Given the description of an element on the screen output the (x, y) to click on. 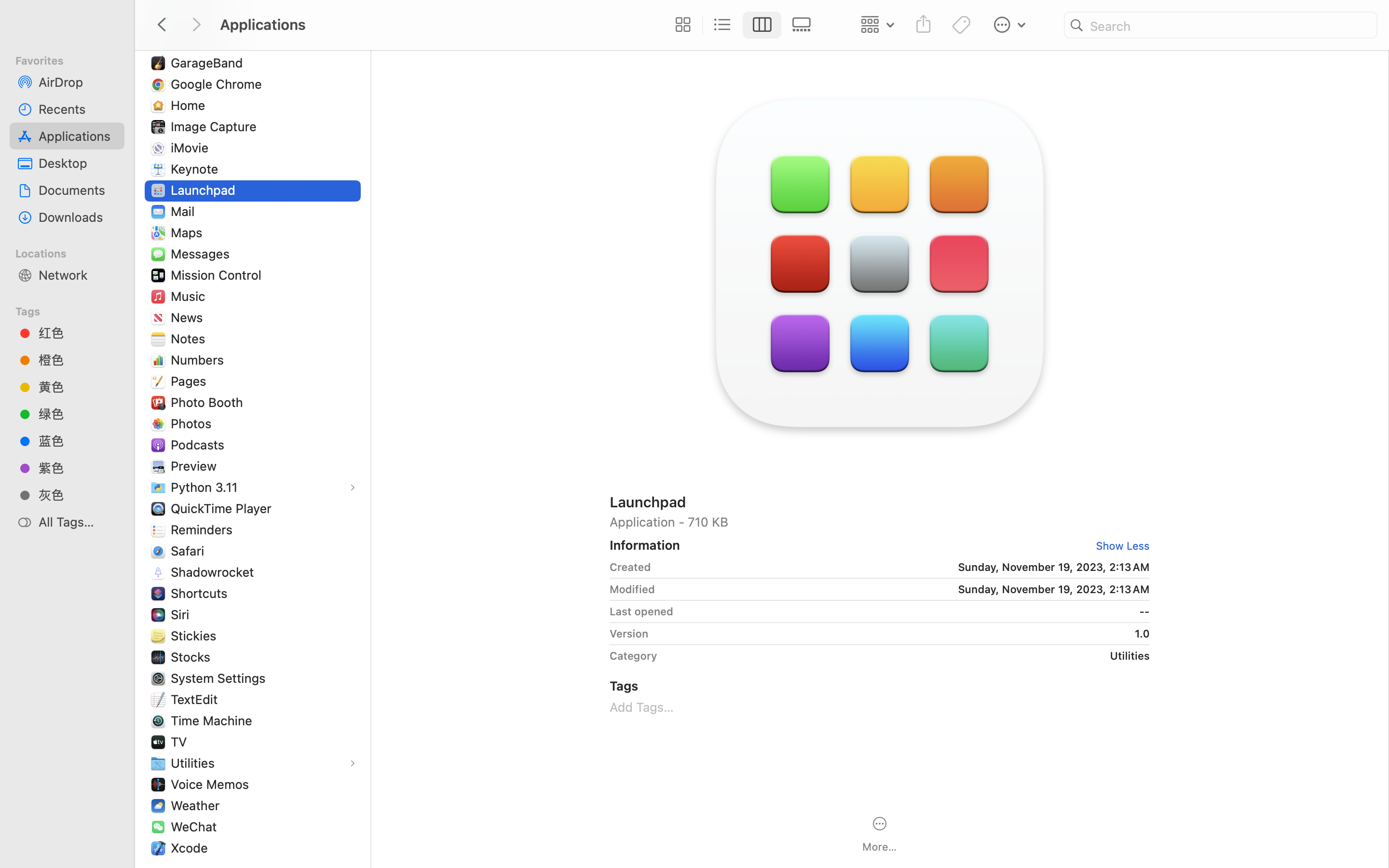
Downloads Element type: AXStaticText (77, 216)
Messages Element type: AXTextField (201, 253)
QuickTime Player Element type: AXTextField (222, 507)
News Element type: AXTextField (188, 317)
Siri Element type: AXTextField (181, 614)
